Given the description of an element on the screen output the (x, y) to click on. 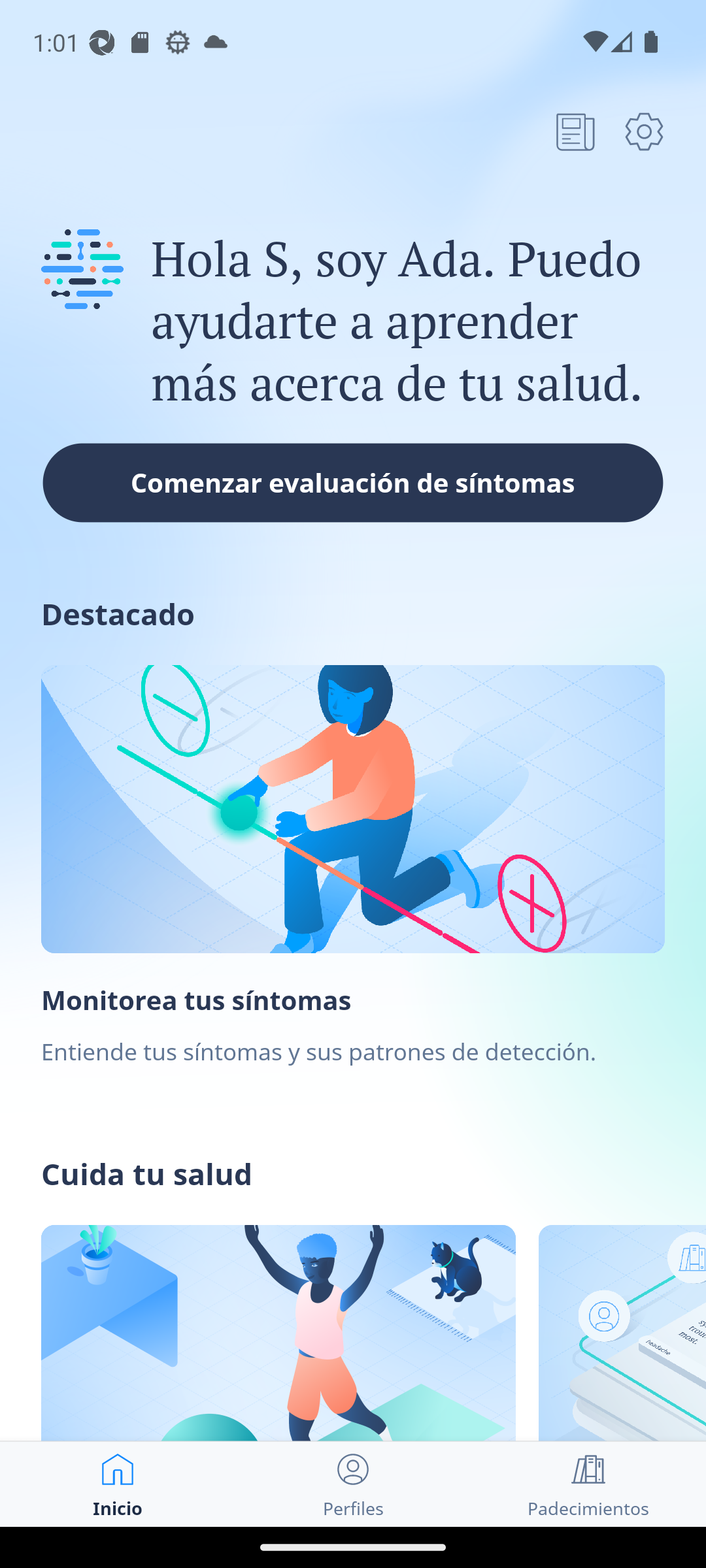
article icon , open articles (574, 131)
settings icon, open settings (644, 131)
Comenzar evaluación de síntomas (352, 482)
Inicio (117, 1484)
Perfiles (352, 1484)
Padecimientos (588, 1484)
